Given the description of an element on the screen output the (x, y) to click on. 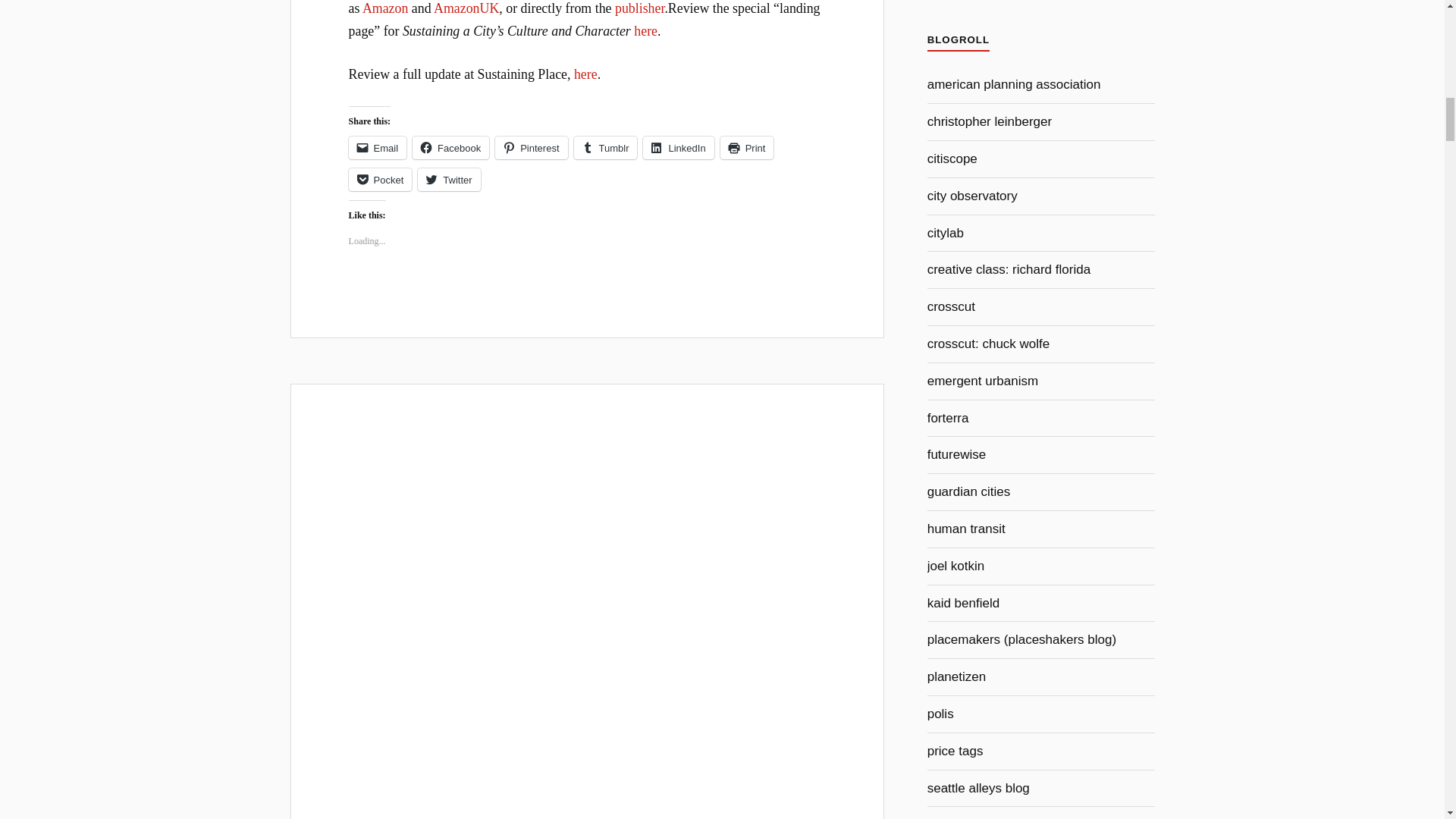
AmazonUK (466, 7)
here (645, 30)
Click to share on Pinterest (531, 147)
Click to email a link to a friend (378, 147)
Pinterest (531, 147)
Amazon (384, 7)
Pocket (380, 179)
Facebook (450, 147)
Email (378, 147)
Print (747, 147)
Twitter (448, 179)
Click to share on LinkedIn (678, 147)
Click to share on Facebook (450, 147)
Tumblr (605, 147)
here (584, 73)
